Given the description of an element on the screen output the (x, y) to click on. 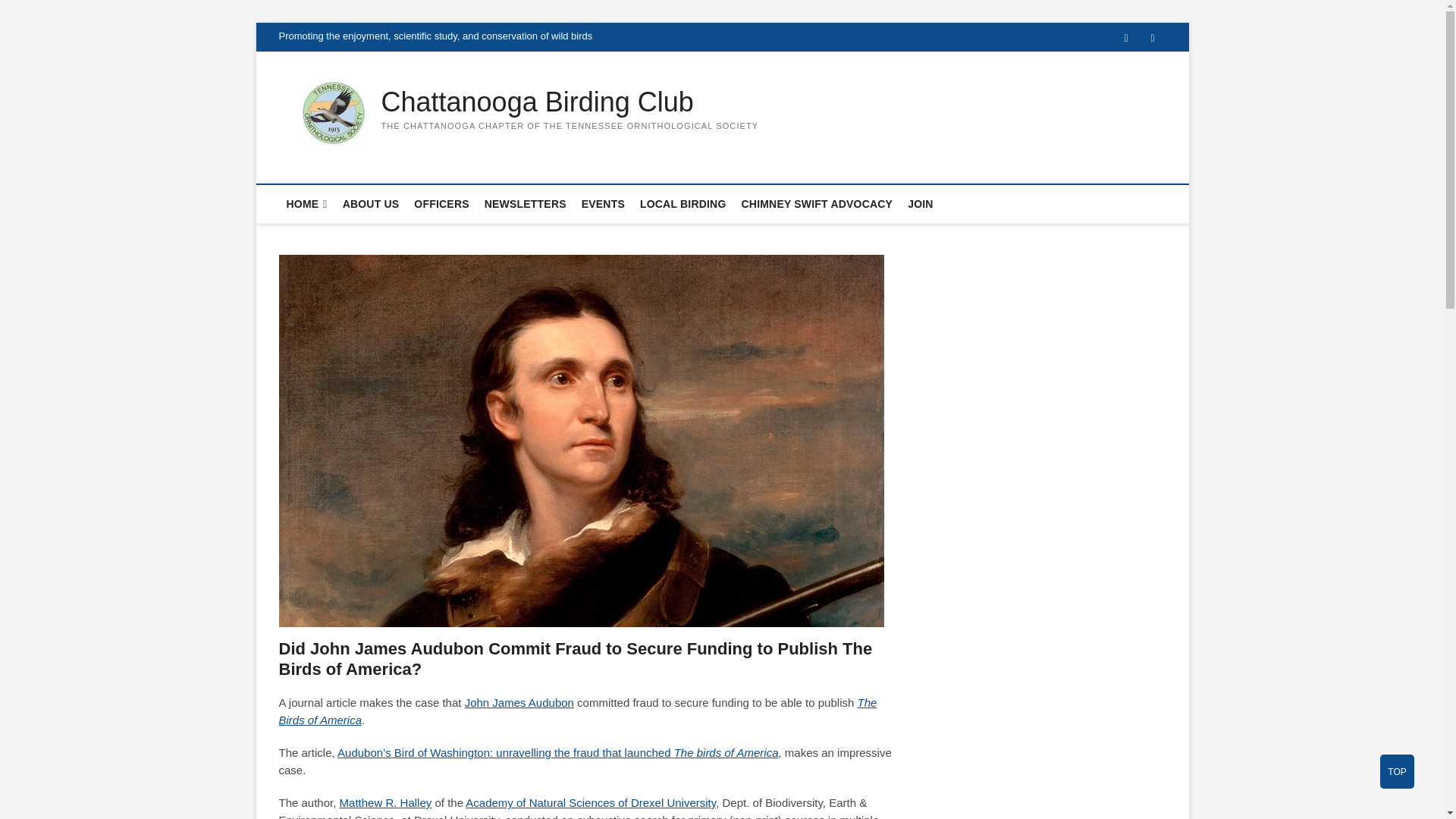
CHIMNEY SWIFT ADVOCACY (817, 203)
John James Audubon (518, 702)
TOP (1396, 771)
NEWSLETTERS (525, 203)
Facebook (1126, 38)
HOME (306, 204)
Chattanooga Birding Club (569, 101)
ABOUT US (370, 203)
Matthew R. Halley (385, 802)
OFFICERS (441, 203)
EVENTS (602, 203)
The Birds of America (578, 711)
LOCAL BIRDING (682, 203)
JOIN (919, 203)
